Given the description of an element on the screen output the (x, y) to click on. 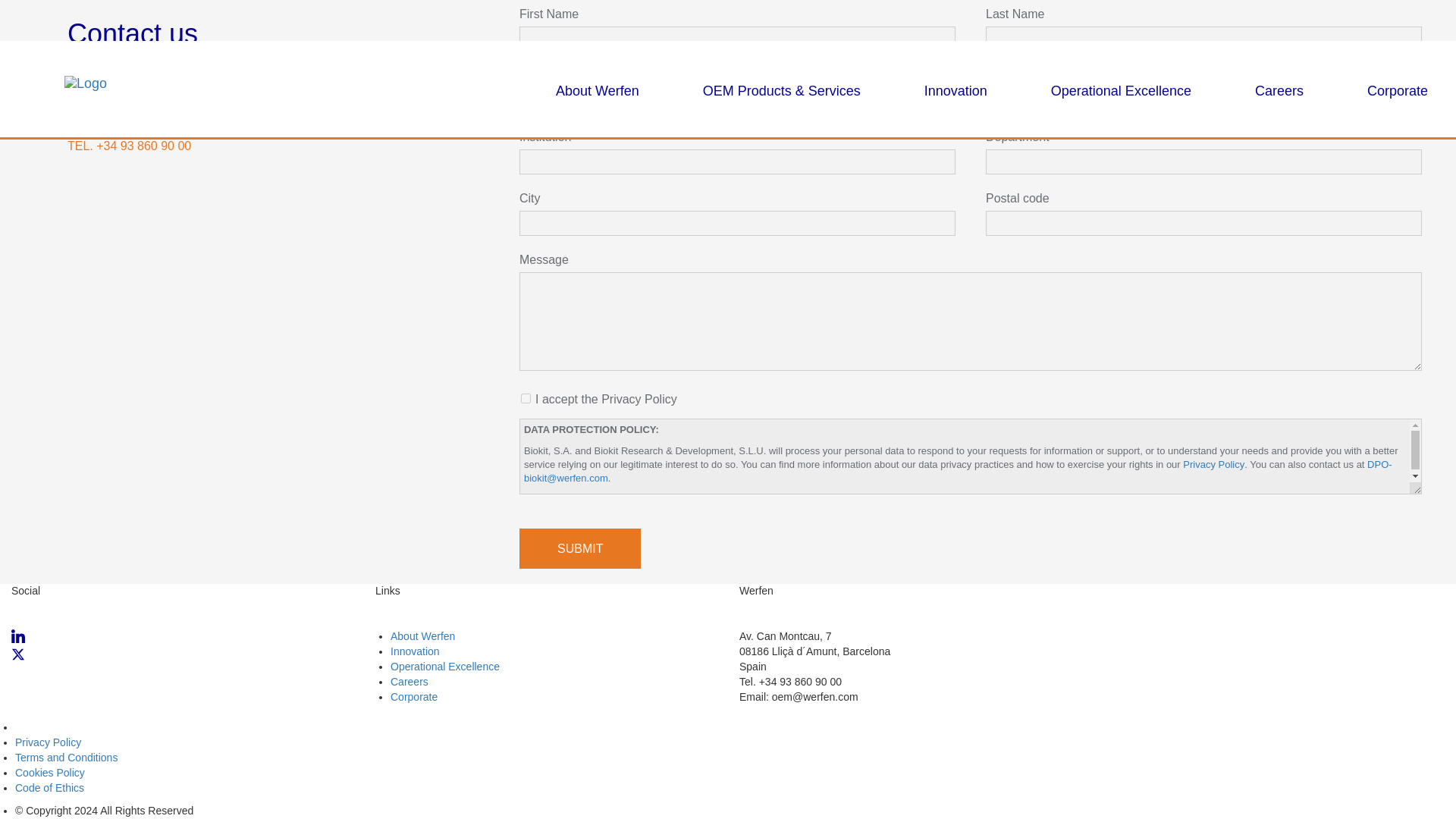
LinkedIn (181, 638)
Privacy Policy (1213, 464)
Twitter (181, 656)
1 (525, 398)
Submit (579, 548)
